Given the description of an element on the screen output the (x, y) to click on. 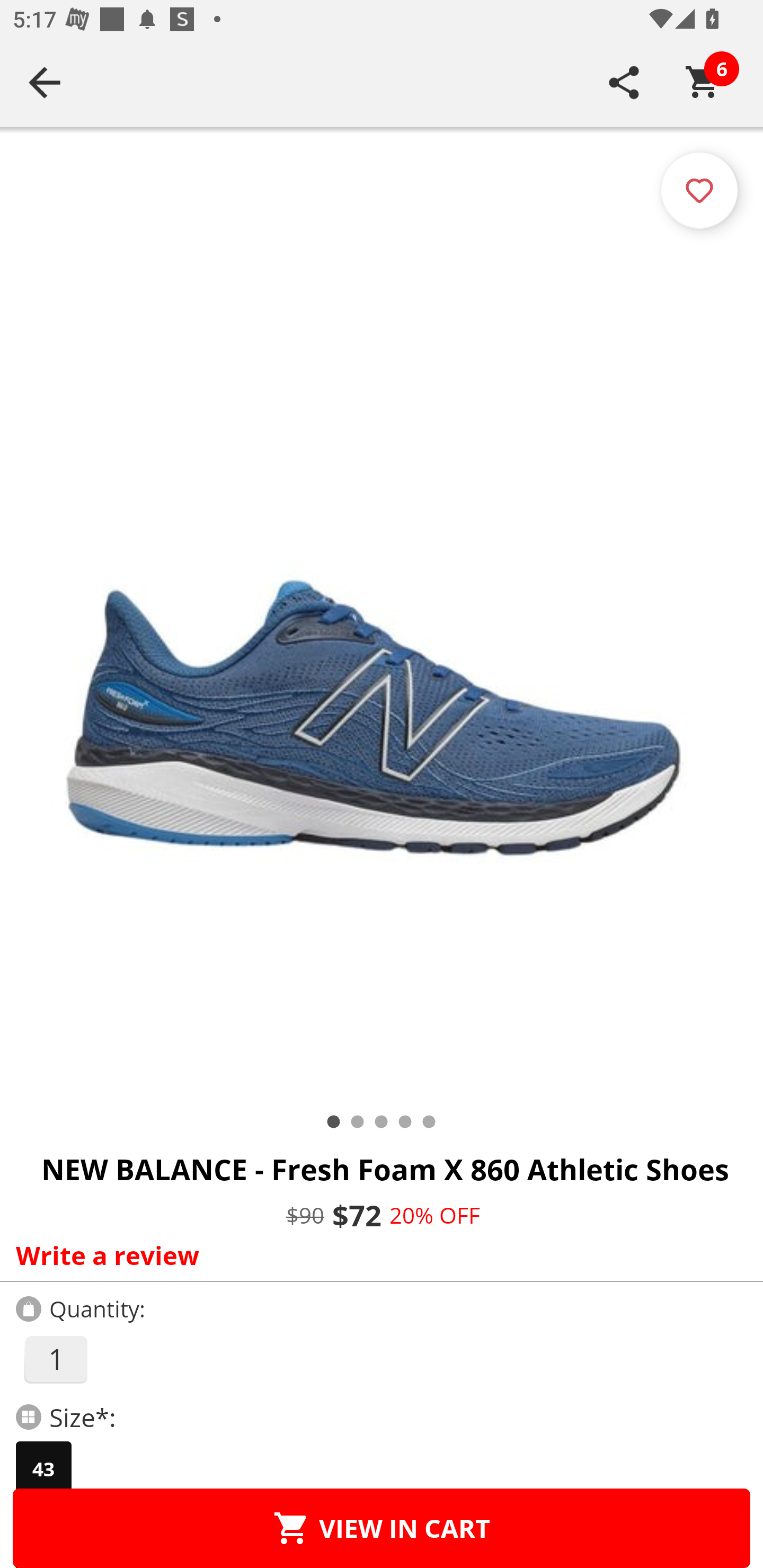
Navigate up (44, 82)
SHARE (623, 82)
Cart (703, 81)
Write a review (377, 1255)
1 (55, 1358)
43 (43, 1468)
VIEW IN CART (381, 1528)
